Given the description of an element on the screen output the (x, y) to click on. 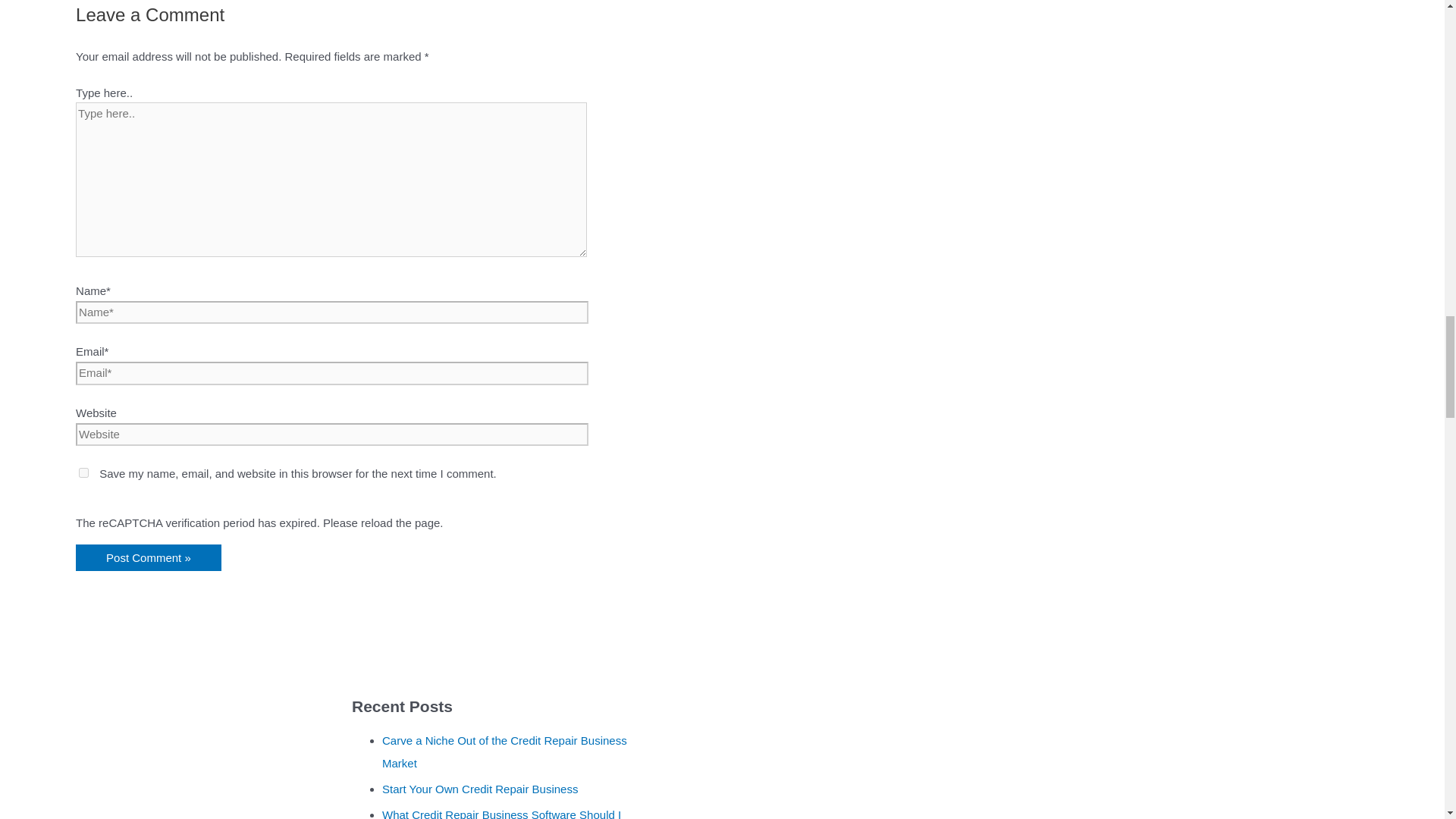
yes (83, 472)
